Given the description of an element on the screen output the (x, y) to click on. 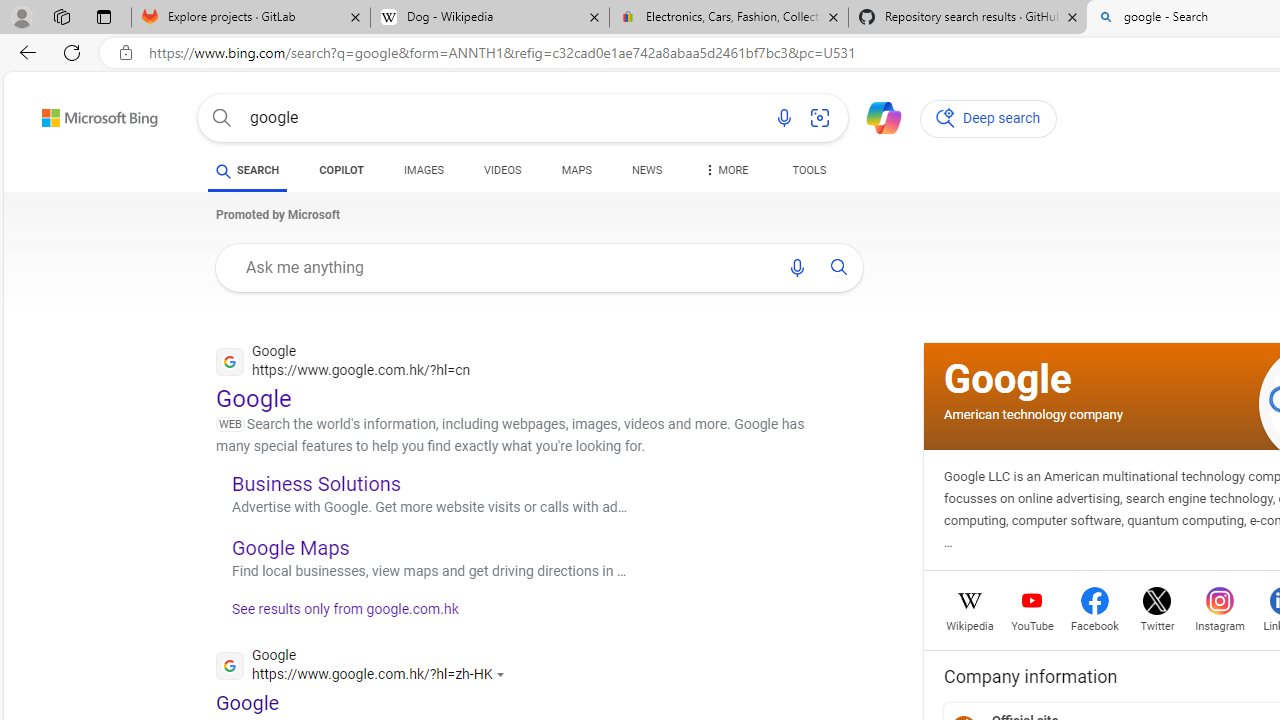
Search button (221, 117)
NEWS (646, 173)
MORE (724, 173)
Twitter (1156, 624)
American technology company (1033, 413)
NEWS (646, 170)
Actions for this site (503, 673)
